Given the description of an element on the screen output the (x, y) to click on. 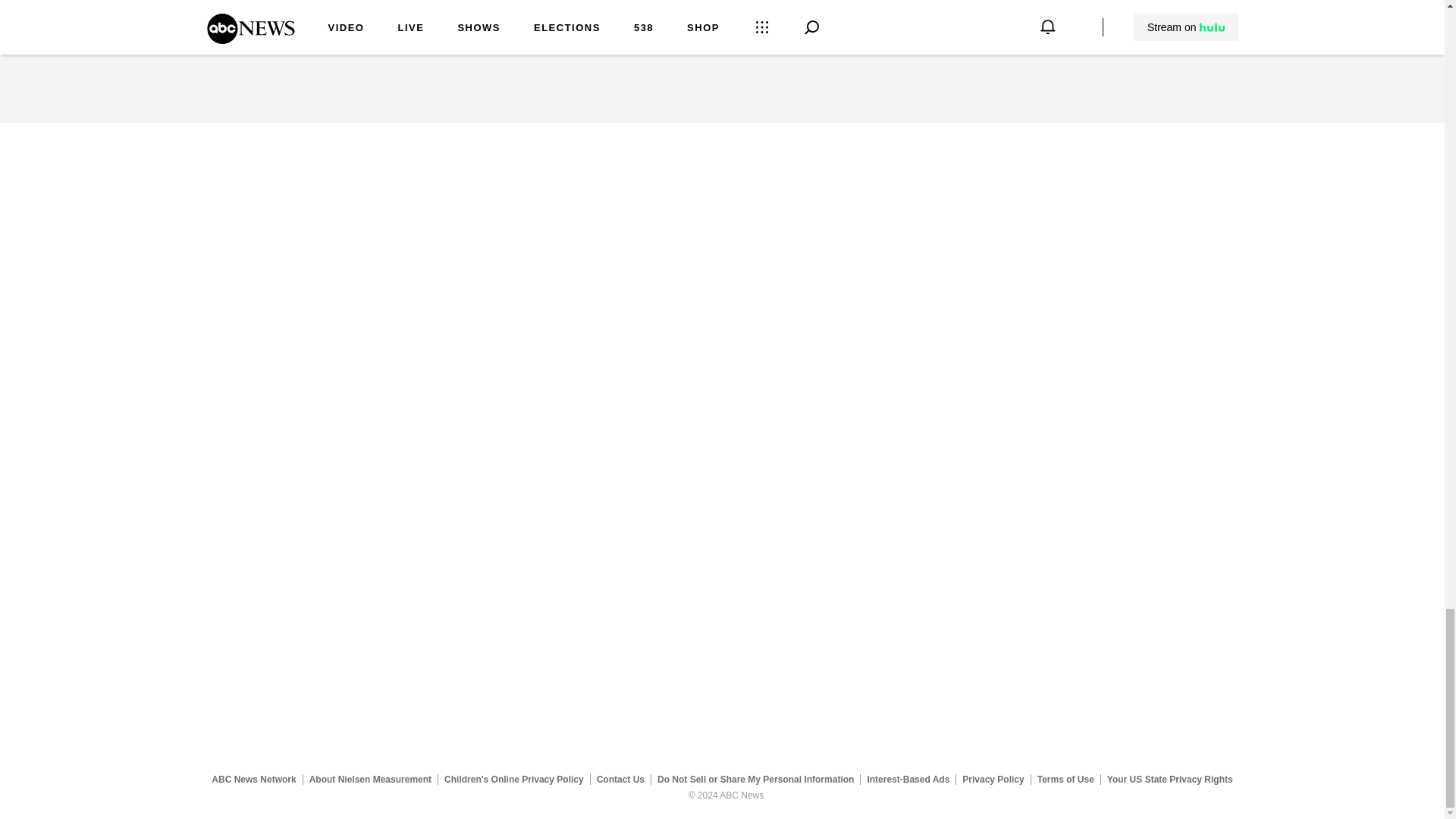
Contact Us (620, 778)
Do Not Sell or Share My Personal Information (755, 778)
Your US State Privacy Rights (1169, 778)
Interest-Based Ads (908, 778)
Privacy Policy (993, 778)
About Nielsen Measurement (370, 778)
ABC News Network (253, 778)
Terms of Use (1065, 778)
Children's Online Privacy Policy (514, 778)
